Given the description of an element on the screen output the (x, y) to click on. 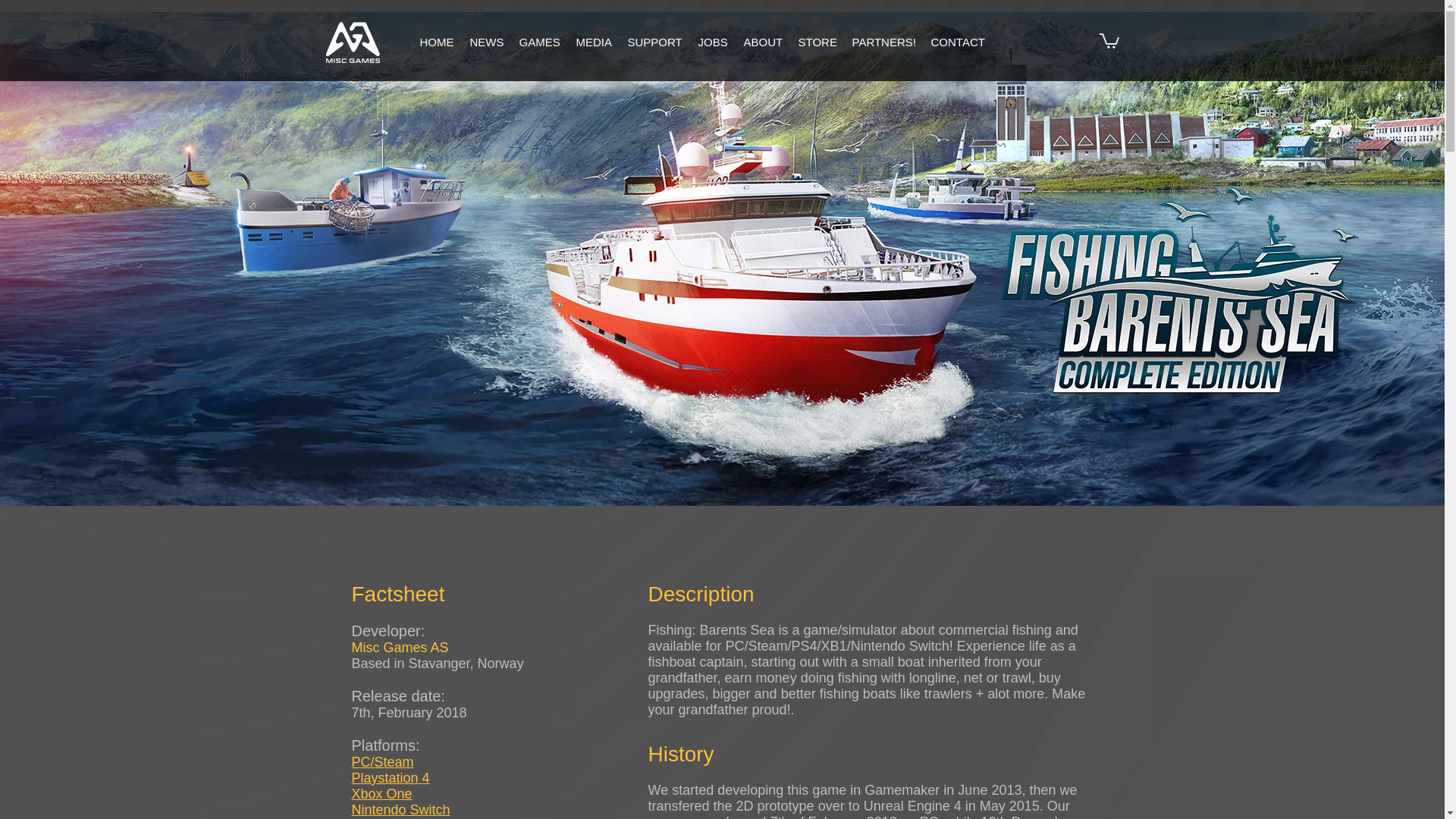
ABOUT (762, 42)
JOBS (712, 42)
MEDIA (594, 42)
Nintendo Switch (400, 809)
STORE (817, 42)
SUPPORT (655, 42)
Xbox One (382, 793)
NEWS (487, 42)
PARTNERS! (883, 42)
CONTACT (957, 42)
